Given the description of an element on the screen output the (x, y) to click on. 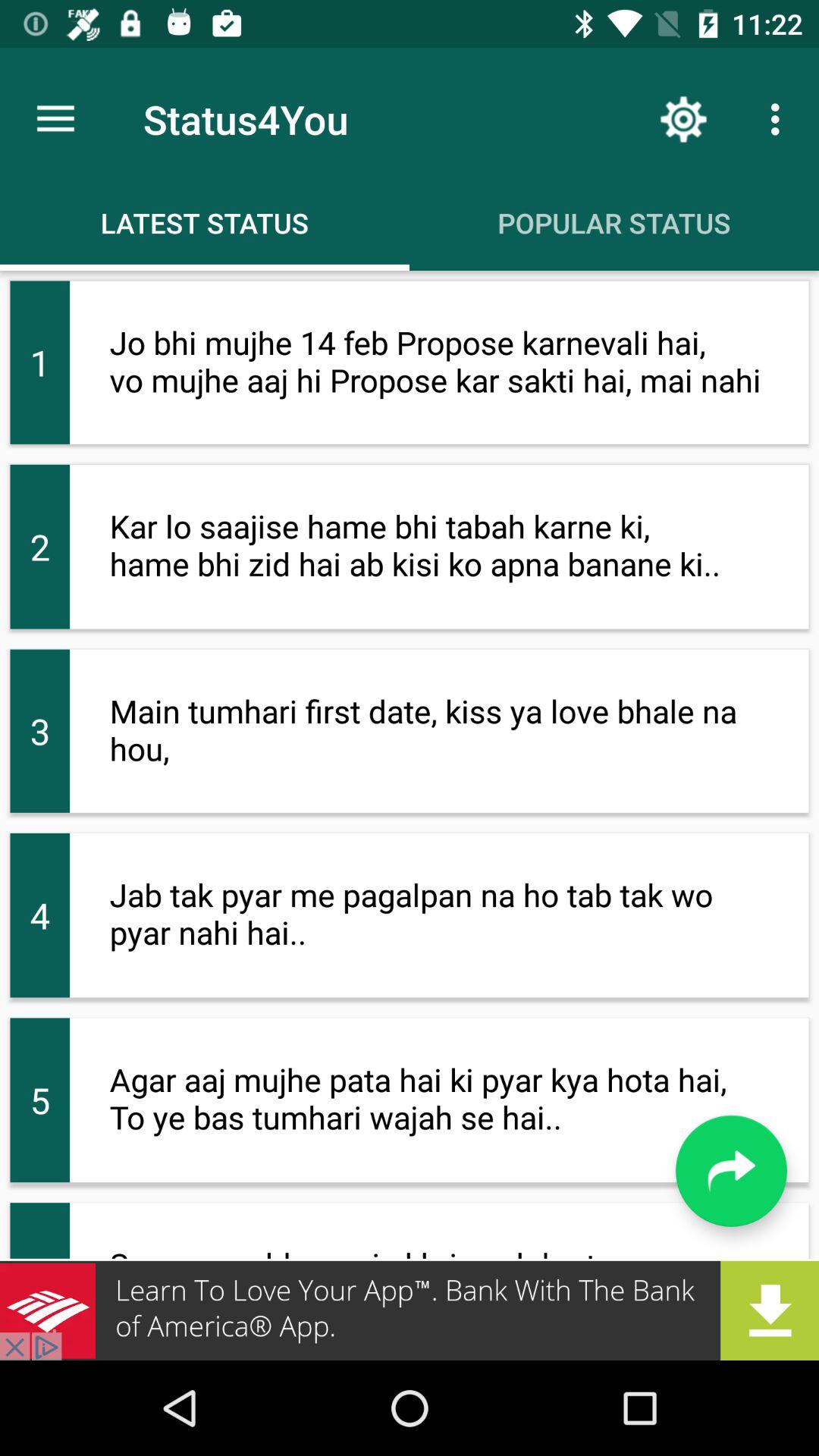
share the text and image (731, 1170)
